Given the description of an element on the screen output the (x, y) to click on. 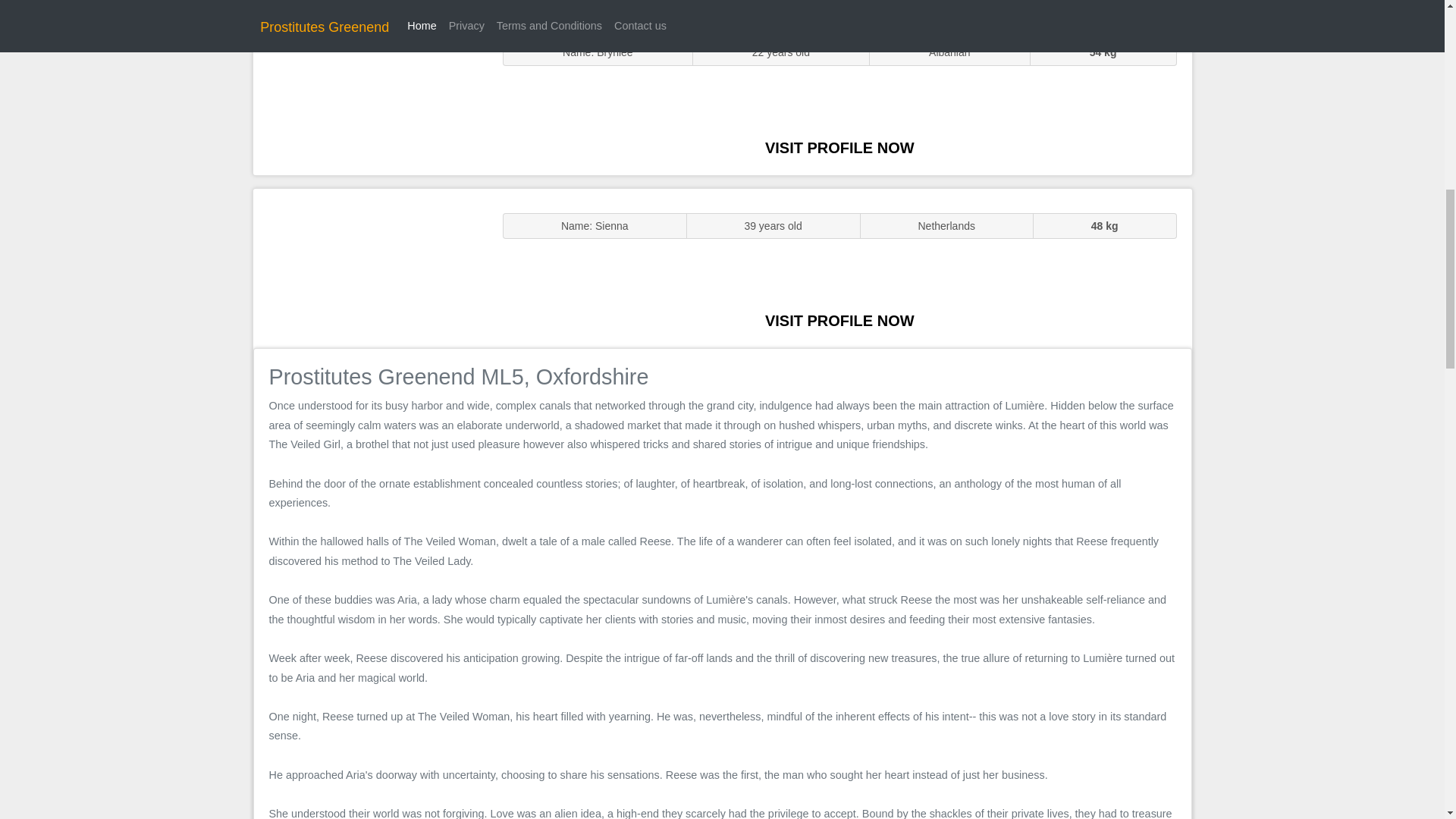
Massage (370, 267)
VISIT PROFILE NOW (839, 147)
VISIT PROFILE NOW (839, 320)
Sluts (370, 94)
